Given the description of an element on the screen output the (x, y) to click on. 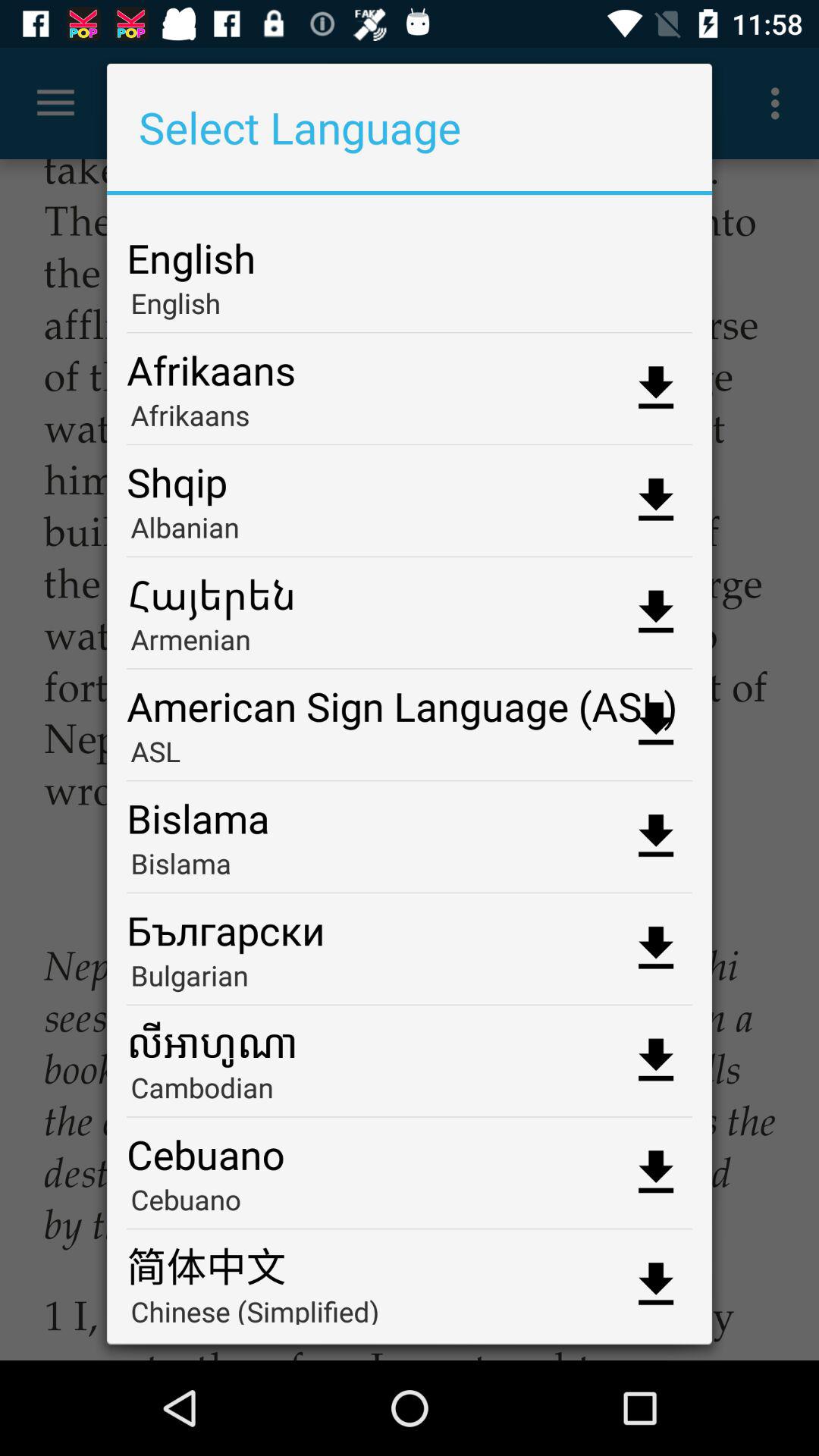
tap the app below shqip app (409, 532)
